Given the description of an element on the screen output the (x, y) to click on. 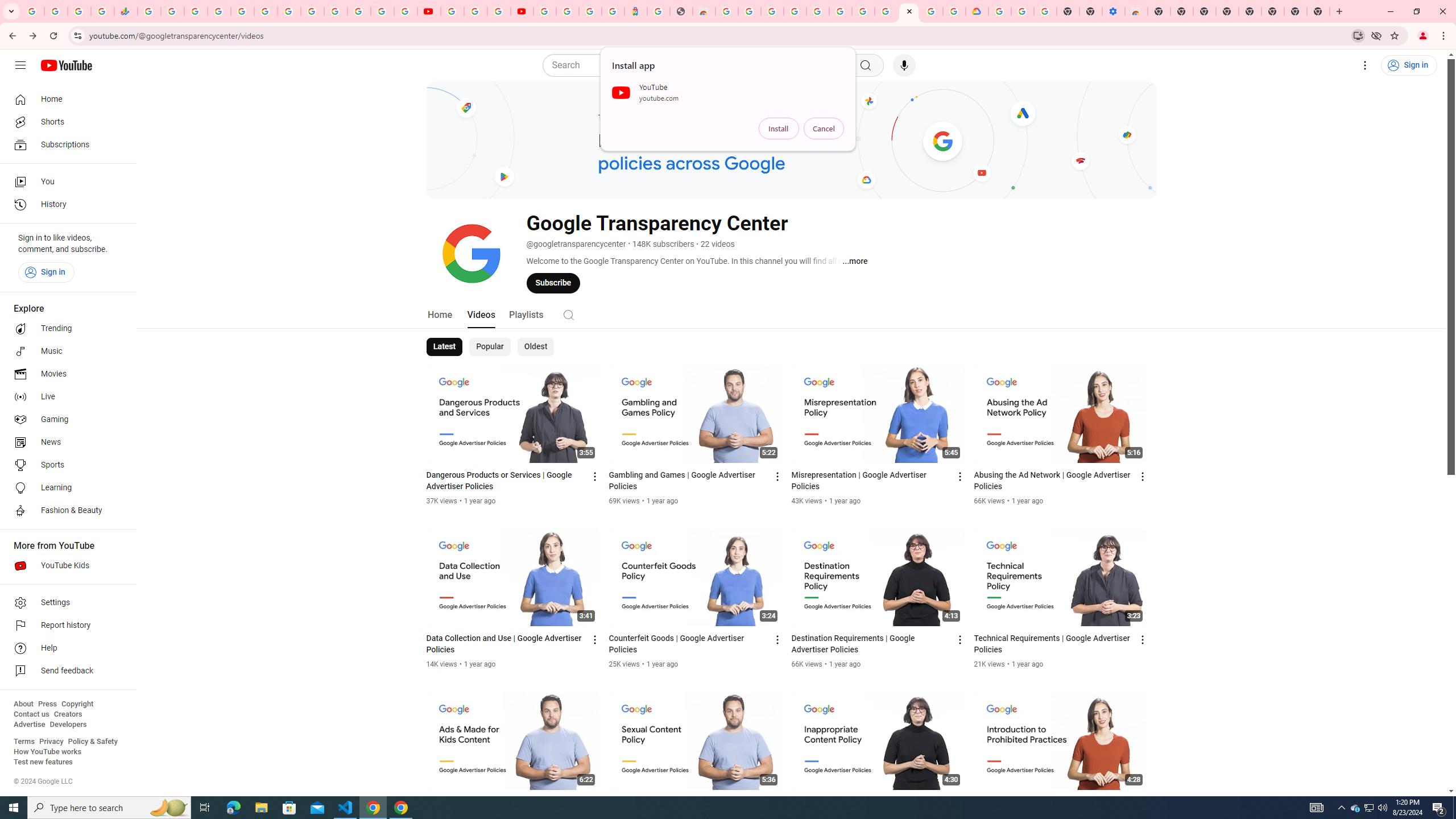
Google Transparency Center - YouTube (909, 11)
Sign in - Google Accounts (567, 11)
Playlists (525, 314)
Movies (64, 373)
YouTube Kids (64, 565)
Google Account Help (475, 11)
Report history (64, 625)
Install (778, 128)
YouTube Home (66, 65)
